Given the description of an element on the screen output the (x, y) to click on. 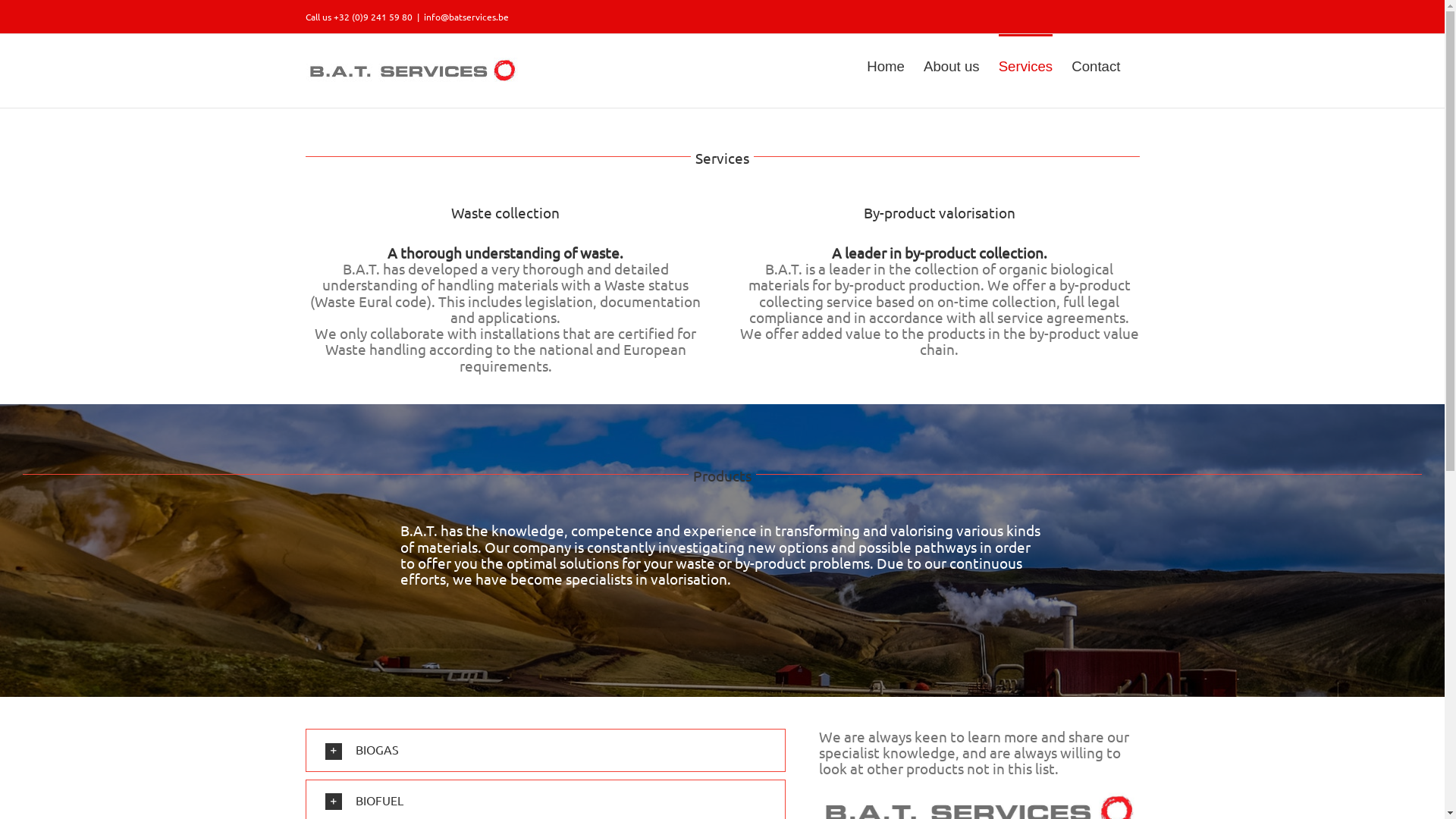
BIOGAS Element type: text (545, 750)
Home Element type: text (885, 65)
Contact Element type: text (1095, 65)
Services Element type: text (1025, 65)
info@batservices.be Element type: text (465, 16)
About us Element type: text (951, 65)
